Given the description of an element on the screen output the (x, y) to click on. 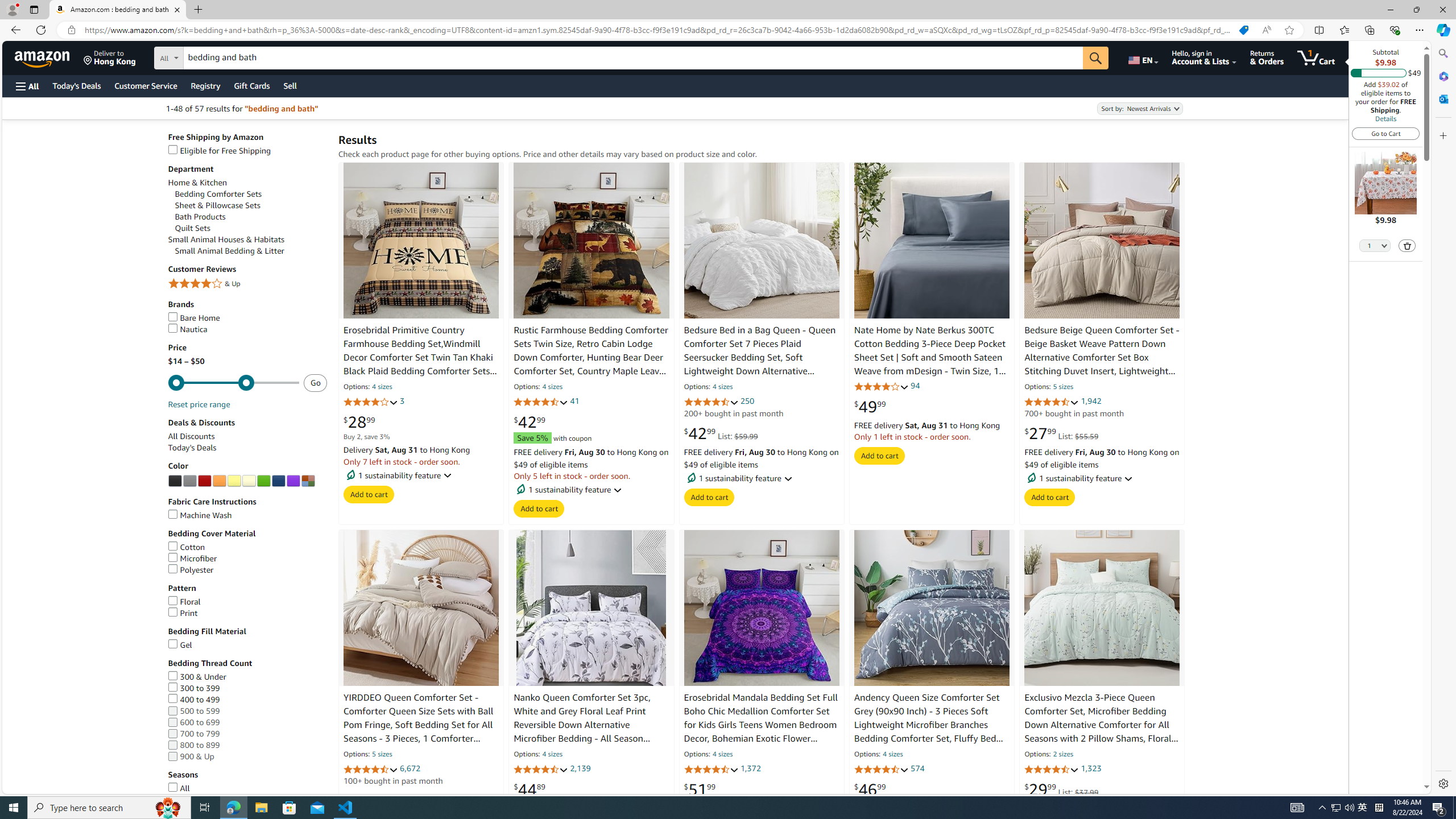
94 (915, 384)
1,942 (1091, 401)
AutomationID: p_n_feature_twenty_browse-bin/3254099011 (189, 481)
Search Amazon (633, 57)
Hello, sign in Account & Lists (1203, 57)
Bedding Comforter Sets (250, 194)
AutomationID: p_n_feature_twenty_browse-bin/3254098011 (174, 481)
Microfiber (191, 558)
2,139 (580, 768)
5 sizes (381, 754)
Small Animal Houses & Habitats (247, 239)
